Given the description of an element on the screen output the (x, y) to click on. 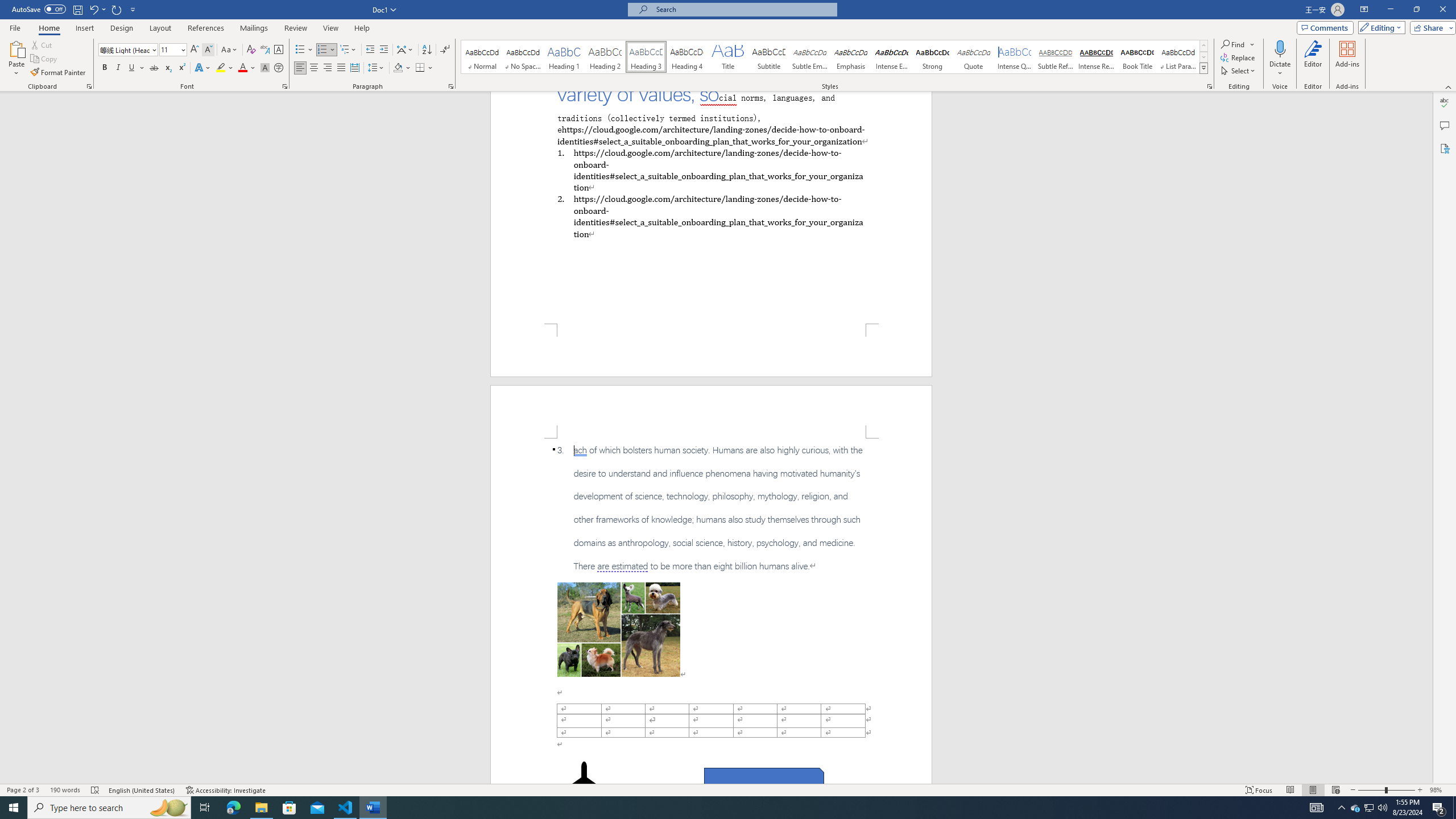
Bold (104, 67)
Editing (1379, 27)
Center (313, 67)
Rectangle: Diagonal Corners Snipped 2 (764, 781)
Shading (402, 67)
Shrink Font (208, 49)
Footer -Section 1- (710, 349)
Office Clipboard... (88, 85)
2. (710, 216)
